Given the description of an element on the screen output the (x, y) to click on. 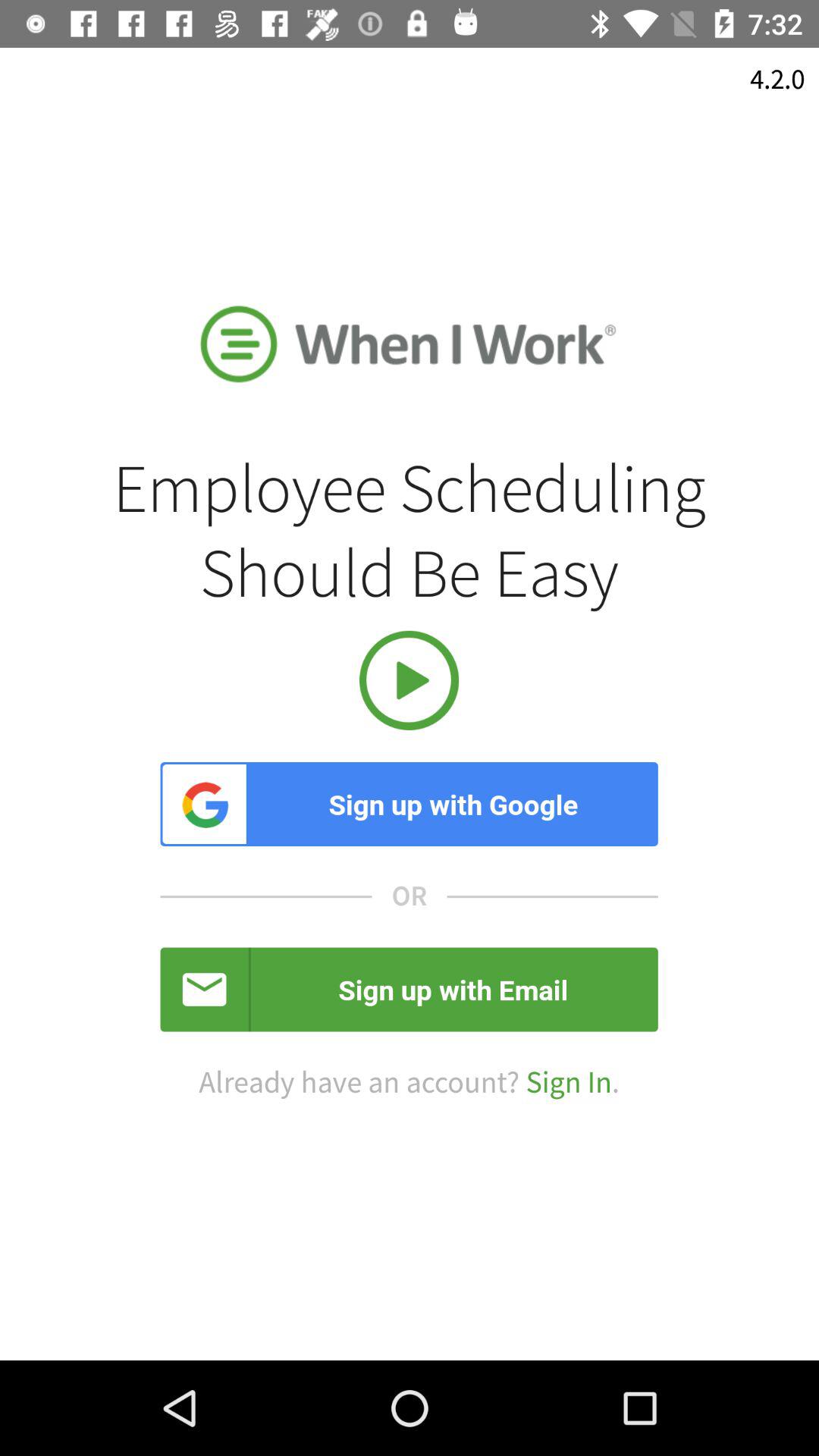
turn on the icon at the top right corner (777, 79)
